Given the description of an element on the screen output the (x, y) to click on. 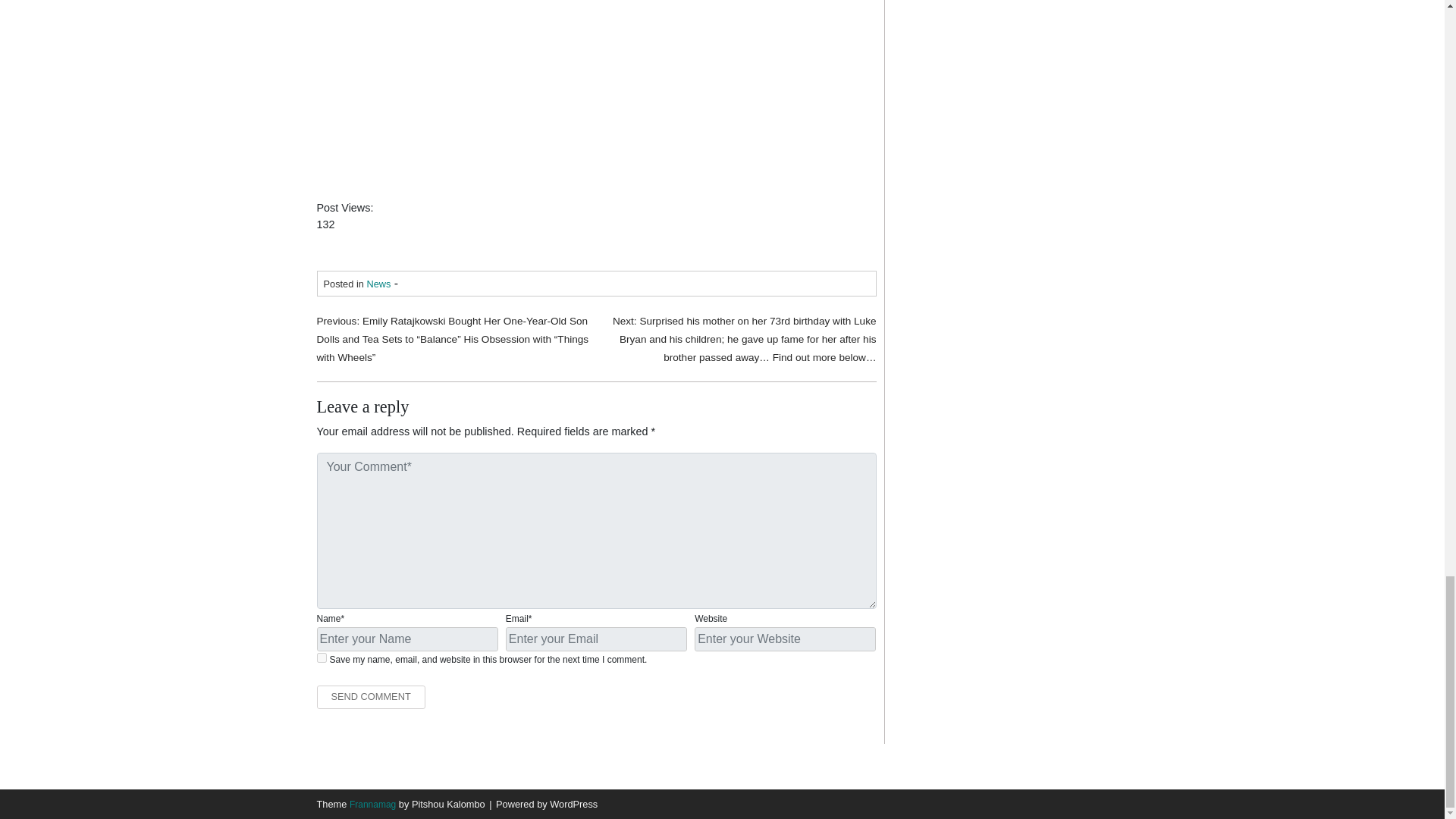
yes (321, 657)
YouTube video player (529, 91)
News (378, 283)
Frannamag (372, 804)
Send Comment (371, 697)
Send Comment (371, 697)
